Given the description of an element on the screen output the (x, y) to click on. 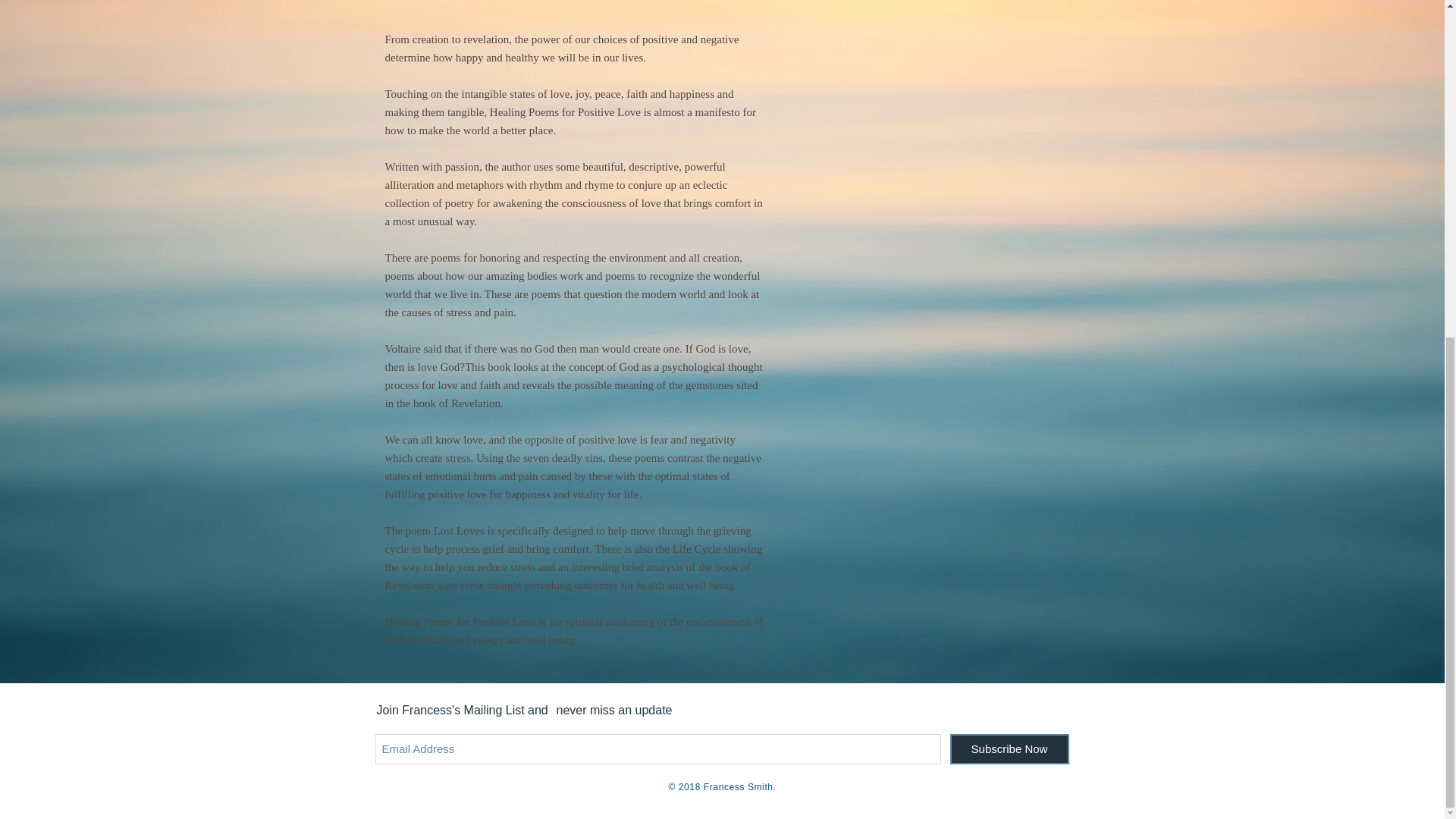
Subscribe Now (1008, 748)
